Given the description of an element on the screen output the (x, y) to click on. 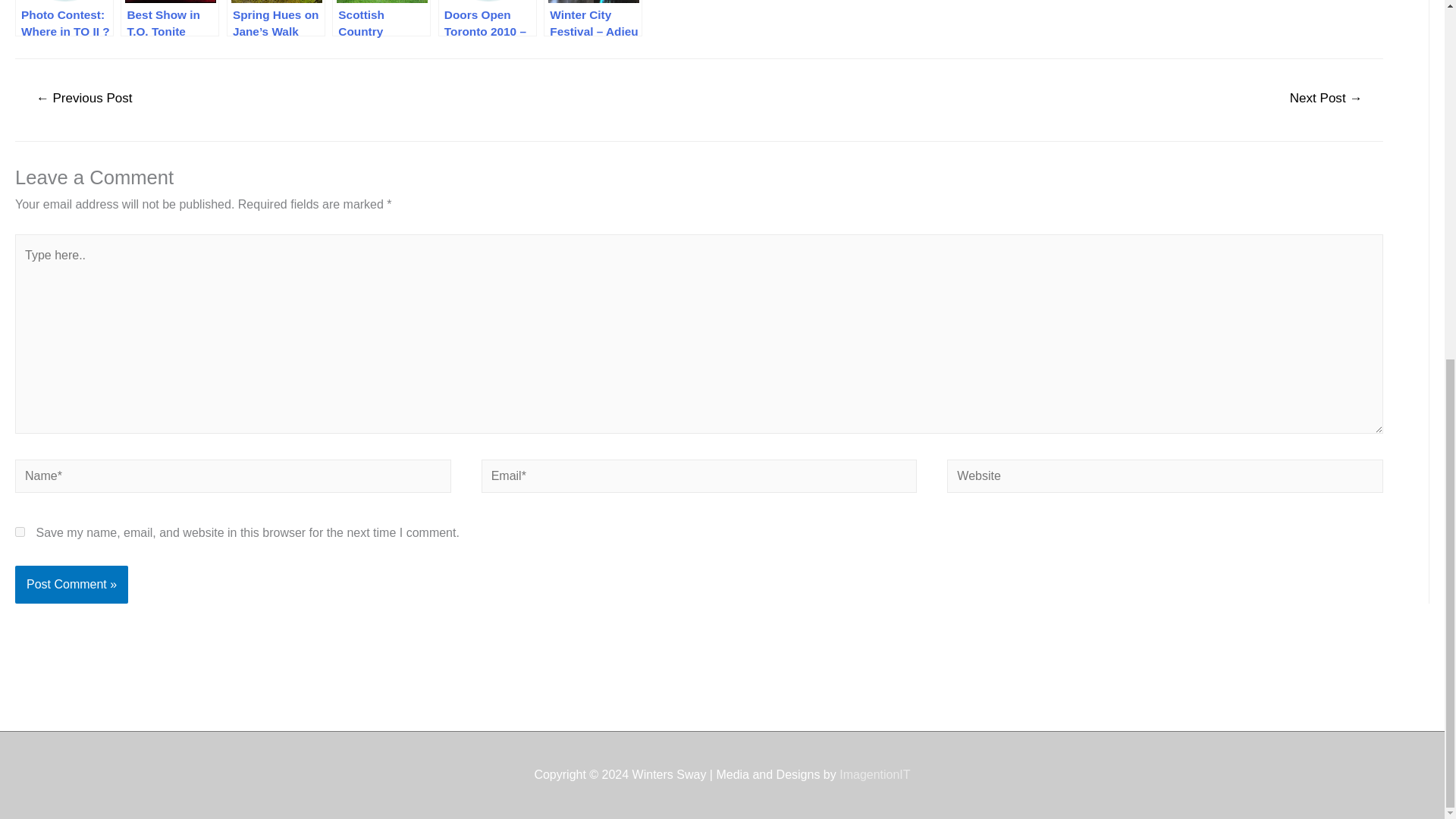
Photo Contest: Where in TO II ? (63, 18)
yes (19, 532)
Photo Contest: Where in TO II ? (63, 18)
Scottish Country Dancing (380, 18)
Scottish Country Dancing (380, 18)
Best Show in T.O. Tonite (169, 18)
ImagentionIT (875, 774)
Best Show in T.O. Tonite (169, 18)
